Given the description of an element on the screen output the (x, y) to click on. 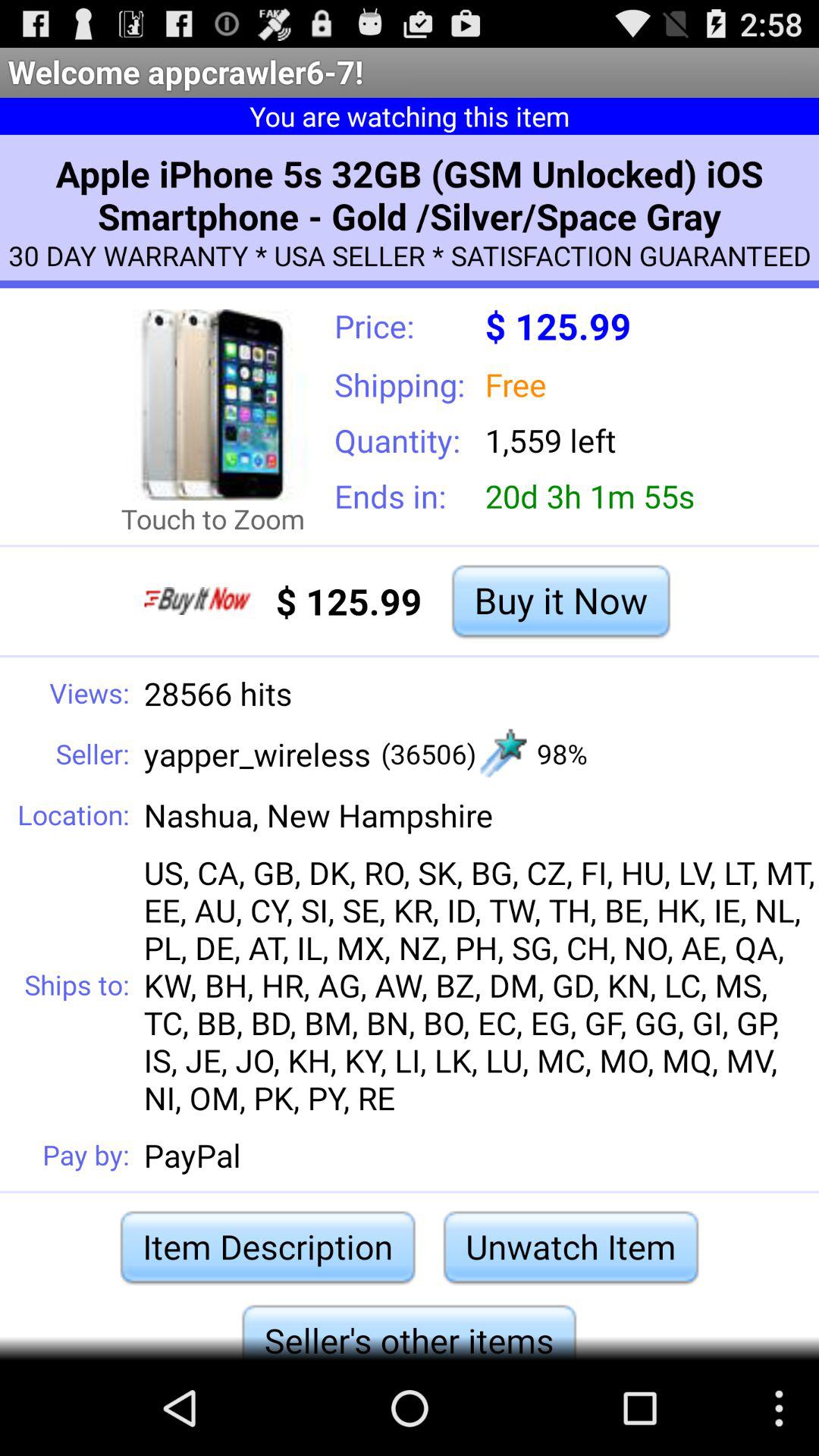
open the icon to the left of unwatch item item (267, 1247)
